Given the description of an element on the screen output the (x, y) to click on. 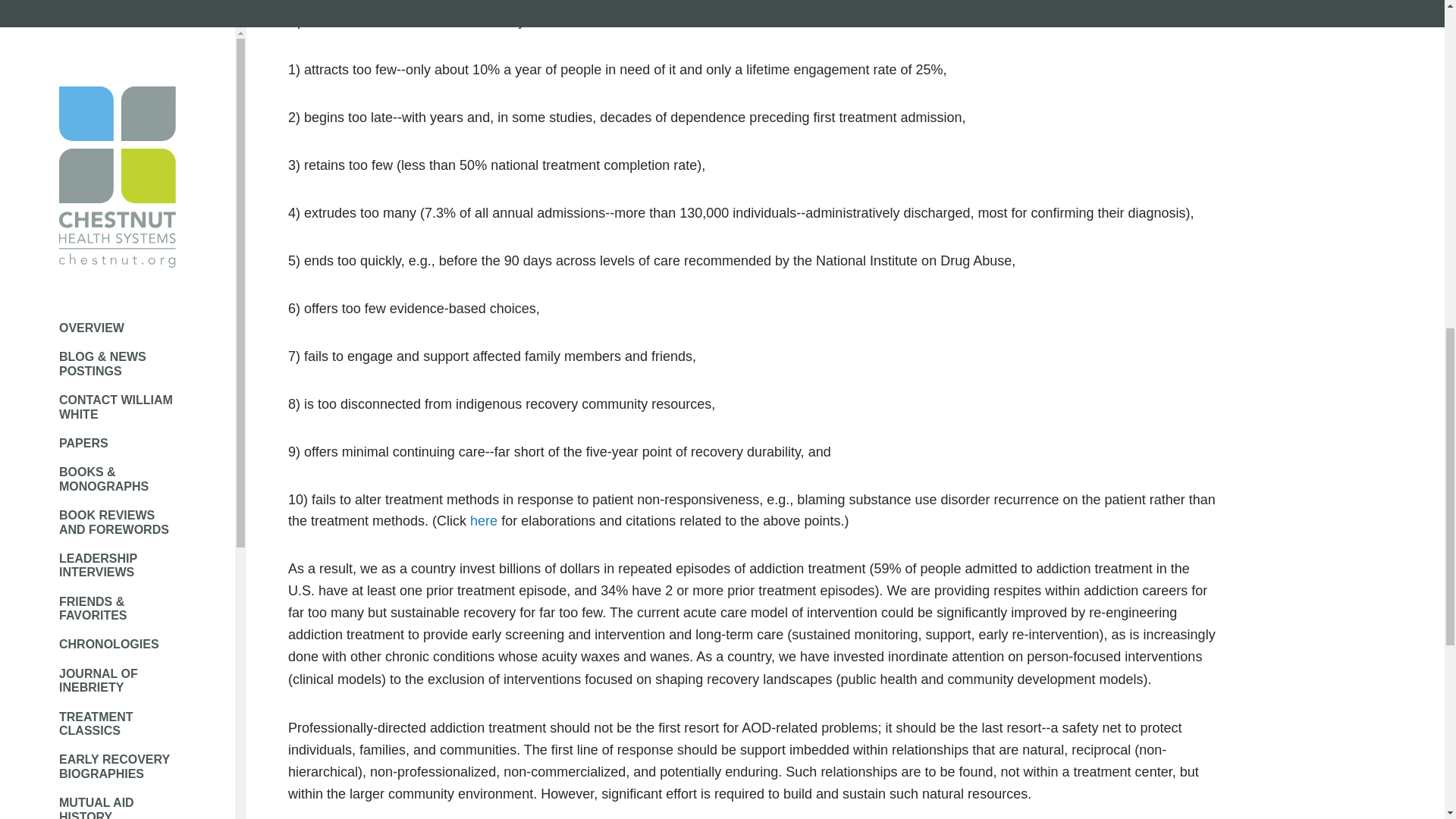
GET INVOLVED (117, 243)
RECOVERY TOOLKIT (117, 92)
PRESENTATIONS (117, 56)
TOPICAL QUOTES (117, 128)
BIOGRAPHICAL INFO (117, 280)
ERNIE KURTZ (117, 27)
VIDEO (117, 315)
ADDICTION HISTORY BRIEFS (117, 207)
MUTUAL AID HISTORY (117, 2)
